Given the description of an element on the screen output the (x, y) to click on. 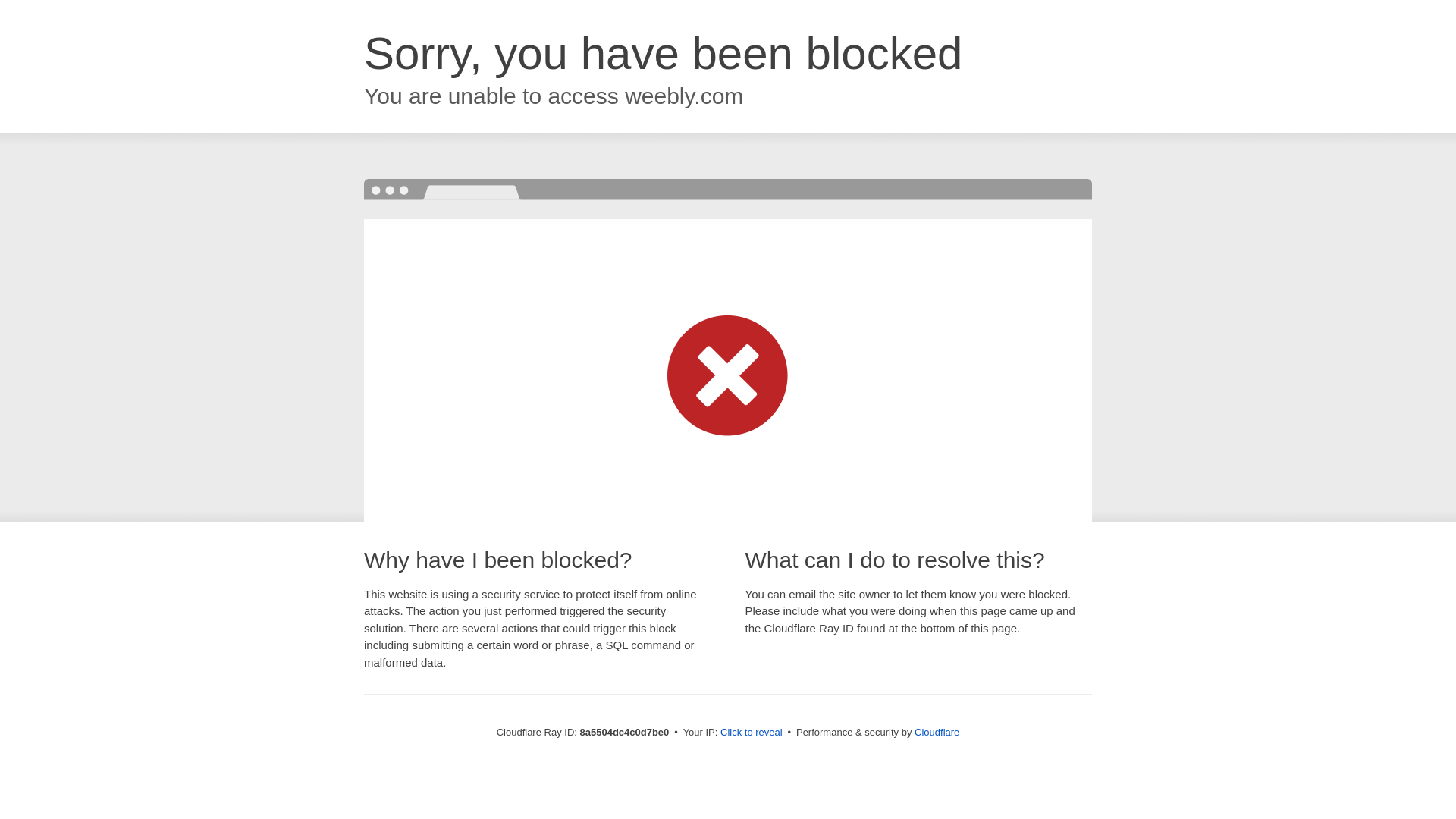
Cloudflare (936, 731)
Click to reveal (751, 732)
